Given the description of an element on the screen output the (x, y) to click on. 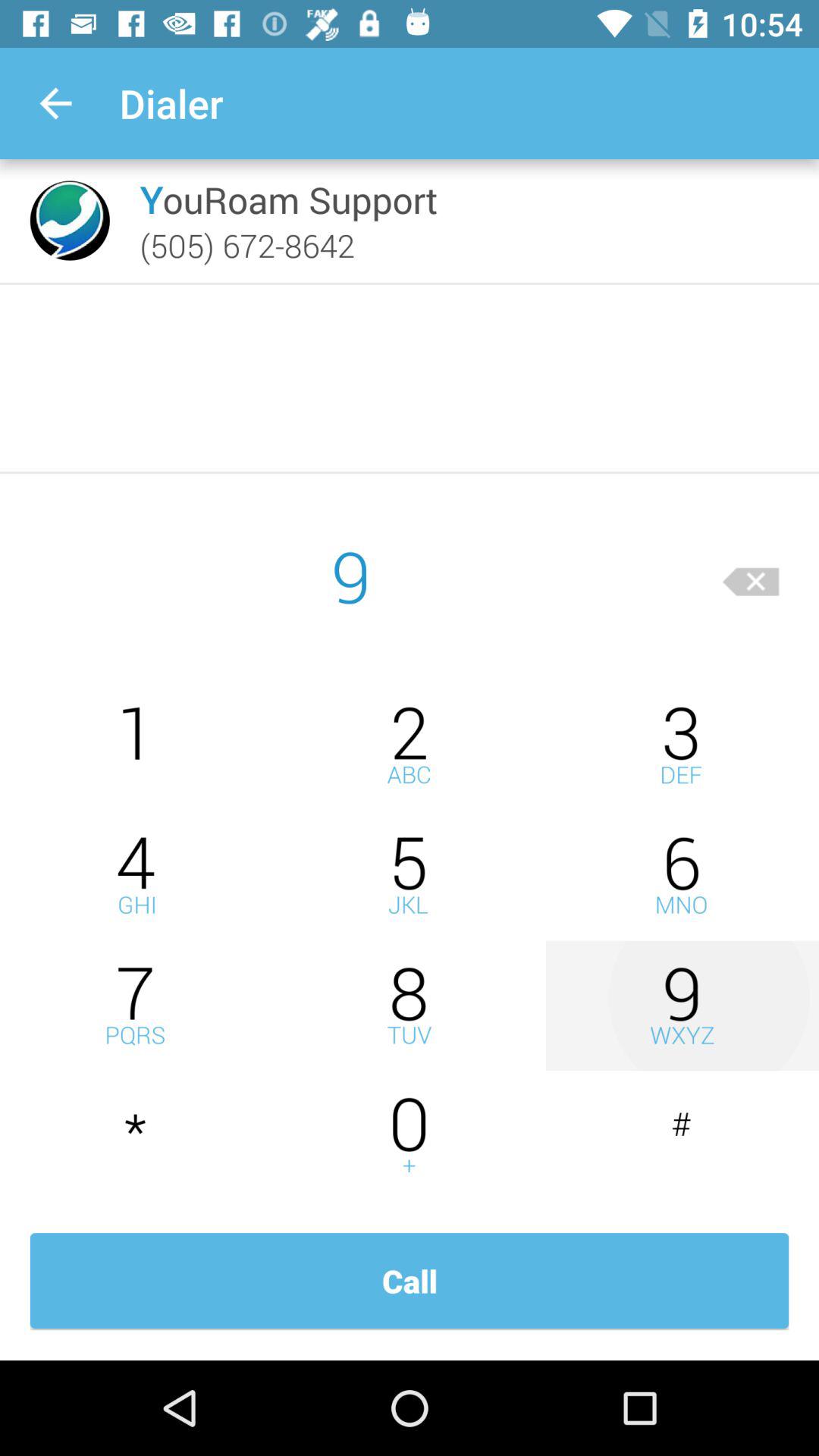
press item to the left of youroam support (69, 220)
